Given the description of an element on the screen output the (x, y) to click on. 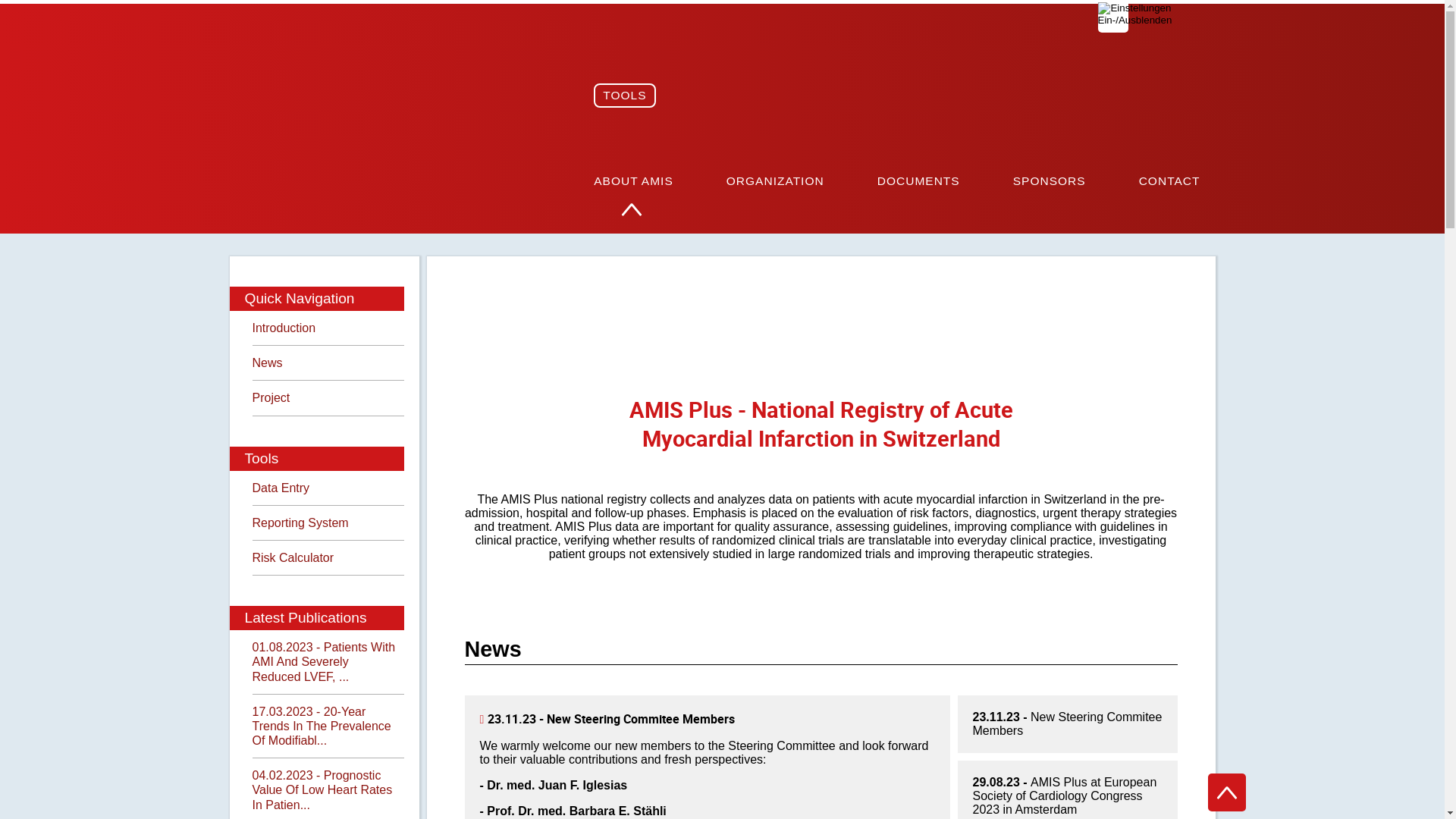
Introduction Element type: text (327, 327)
SPONSORS Element type: text (1049, 180)
ORGANIZATION Element type: text (775, 180)
Data Entry Element type: text (327, 487)
To the top Element type: hover (1226, 792)
Reporting System Element type: text (327, 522)
TOOLS Element type: text (624, 95)
ABOUT AMIS Element type: text (633, 180)
CONTACT Element type: text (1169, 180)
23.11.23 - New Steering Commitee Members Element type: text (1066, 724)
News Element type: text (327, 362)
DOCUMENTS Element type: text (918, 180)
Project Element type: text (327, 397)
Risk Calculator Element type: text (327, 557)
